Given the description of an element on the screen output the (x, y) to click on. 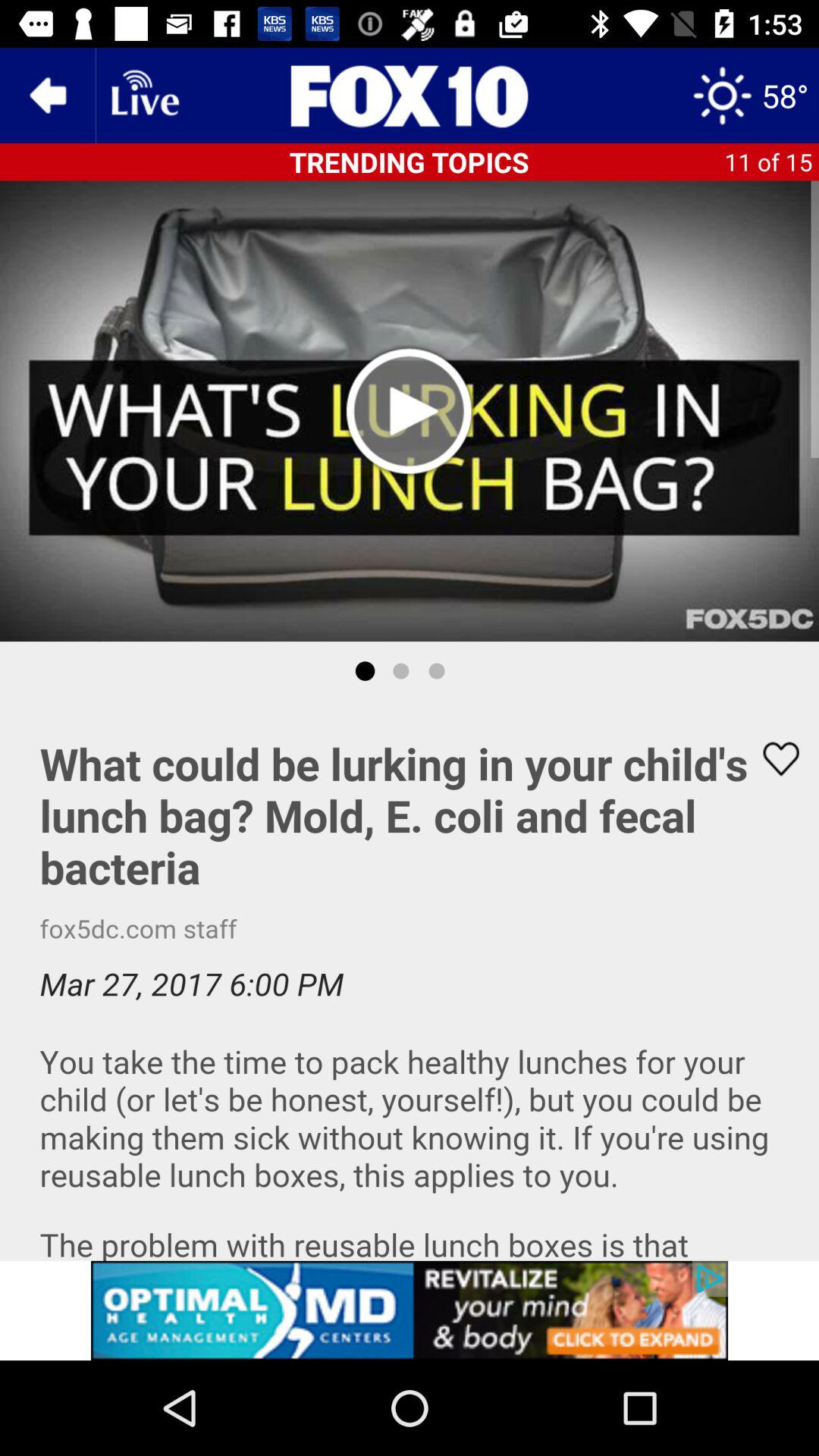
news page (409, 95)
